Given the description of an element on the screen output the (x, y) to click on. 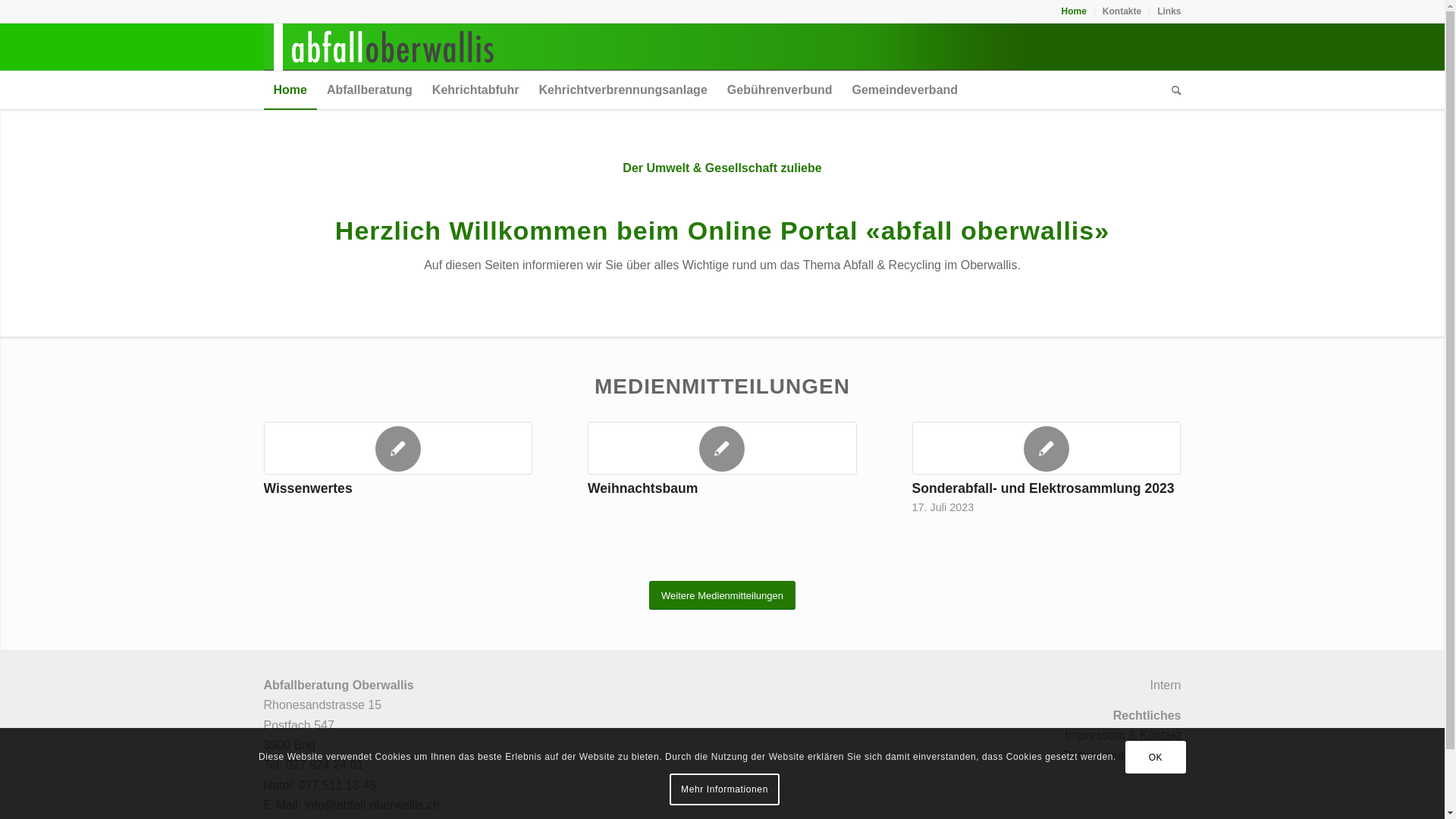
Home Element type: text (289, 90)
Intern Element type: text (1165, 684)
Kontakte Element type: text (1121, 10)
Weihnachtsbaum Element type: text (642, 487)
Wissenwertes Element type: text (307, 487)
Impressum & Kontakt Element type: text (1123, 734)
OK Element type: text (1155, 757)
Kehrichtverbrennungsanlage Element type: text (623, 90)
Wissenwertes Element type: hover (398, 447)
Gemeindeverband Element type: text (904, 90)
Weitere Medienmitteilungen Element type: text (722, 595)
Sonderabfall- und Elektrosammlung 2023 Element type: text (1043, 487)
Links Element type: text (1168, 10)
Home Element type: text (1072, 10)
Mehr Informationen Element type: text (724, 789)
Weihnachtsbaum Element type: hover (721, 447)
info@abfall-oberwallis.ch Element type: text (371, 804)
Abfallberatung Element type: text (369, 90)
Sonderabfall- und Elektrosammlung 2023 Element type: hover (1046, 447)
Kehrichtabfuhr Element type: text (475, 90)
